Given the description of an element on the screen output the (x, y) to click on. 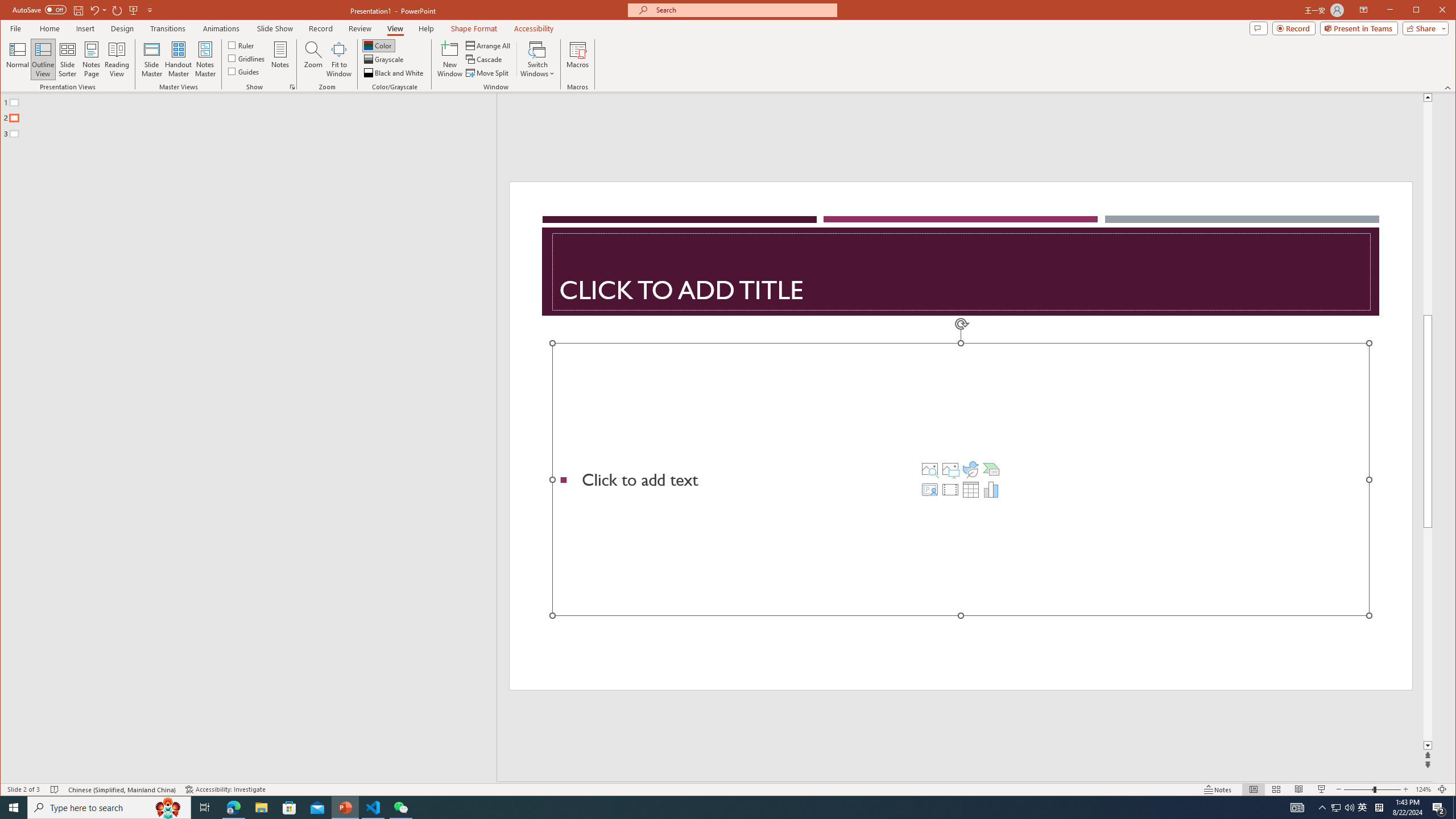
Maximize (1432, 11)
Macros (576, 59)
Spell Check No Errors (55, 789)
Quick Access Toolbar (83, 9)
Switch Windows (537, 59)
Accessibility Checker Accessibility: Investigate (225, 789)
Record (320, 28)
Slide Sorter (1276, 789)
Running applications (707, 807)
Close (1444, 11)
File Tab (15, 27)
WeChat - 1 running window (400, 807)
Fit to Window (338, 59)
Microsoft Edge - 1 running window (233, 807)
Share (1422, 27)
